Given the description of an element on the screen output the (x, y) to click on. 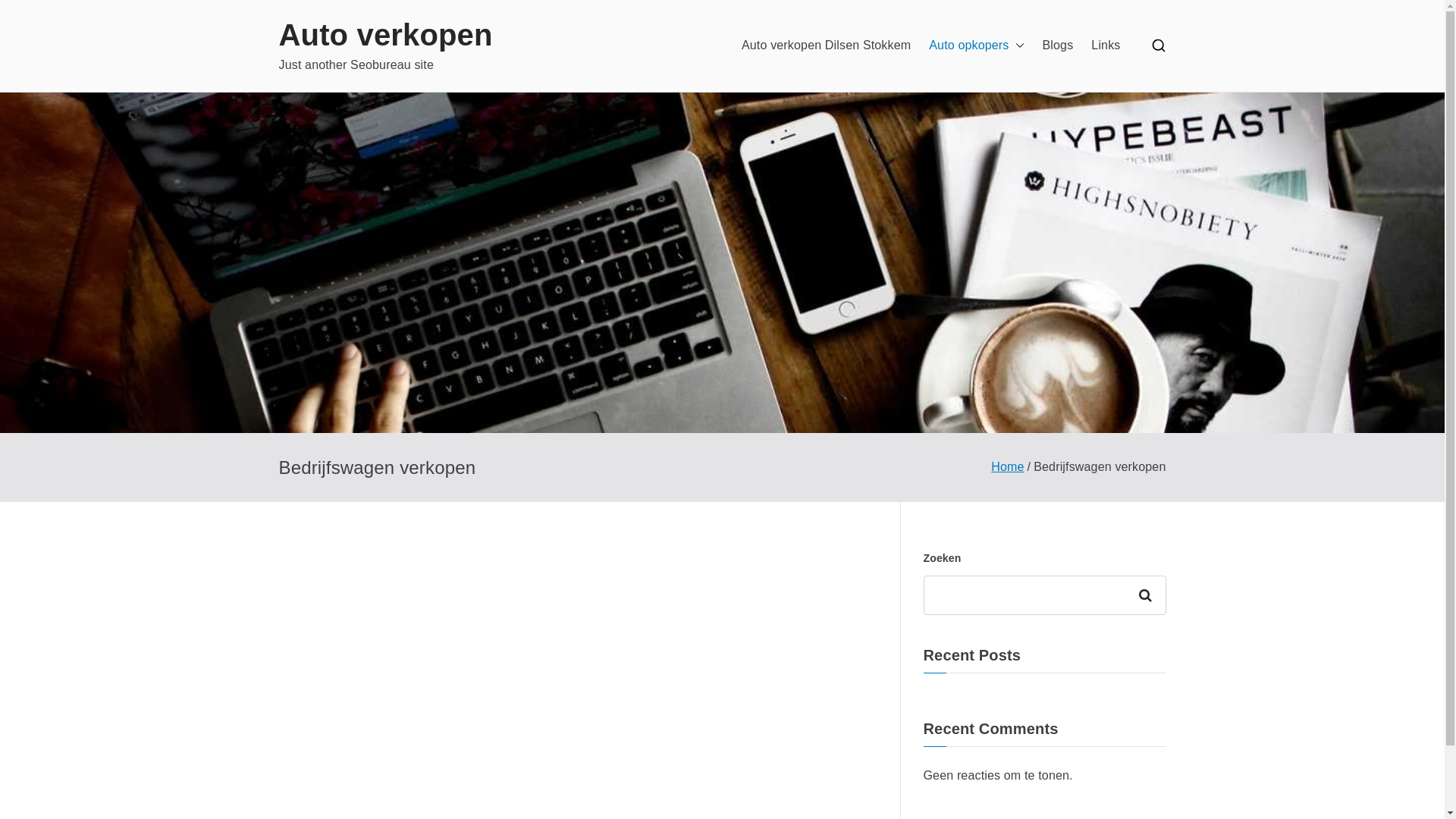
Home Element type: text (1007, 466)
Blogs Element type: text (1057, 45)
Links Element type: text (1105, 45)
Auto verkopen Dilsen Stokkem Element type: text (825, 45)
Search Element type: text (26, 12)
Zoeken Element type: text (1147, 595)
Auto opkopers Element type: text (975, 45)
Auto verkopen Element type: text (385, 34)
